Given the description of an element on the screen output the (x, y) to click on. 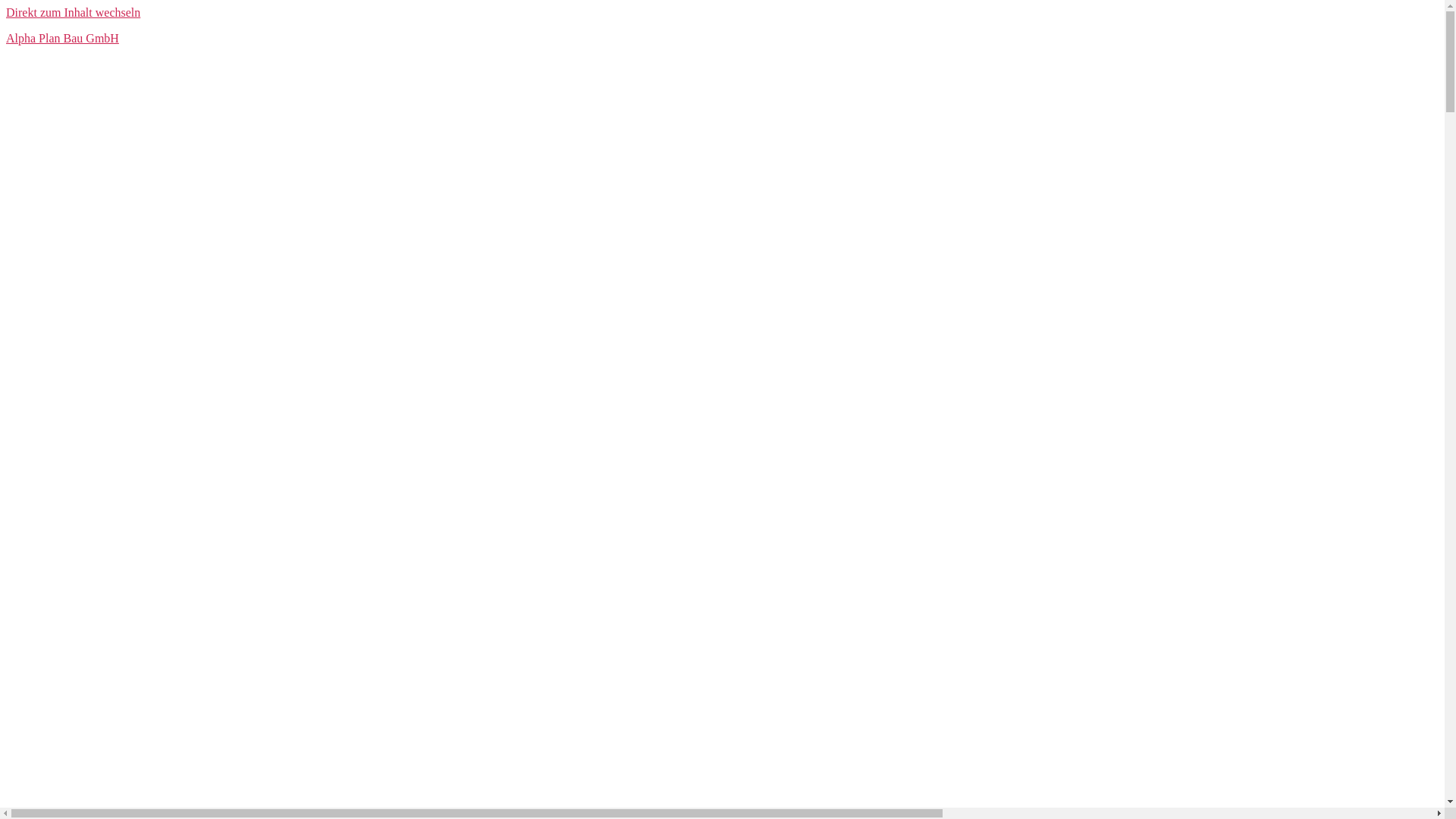
Alpha Plan Bau GmbH Element type: text (62, 37)
Direkt zum Inhalt wechseln Element type: text (73, 12)
